Given the description of an element on the screen output the (x, y) to click on. 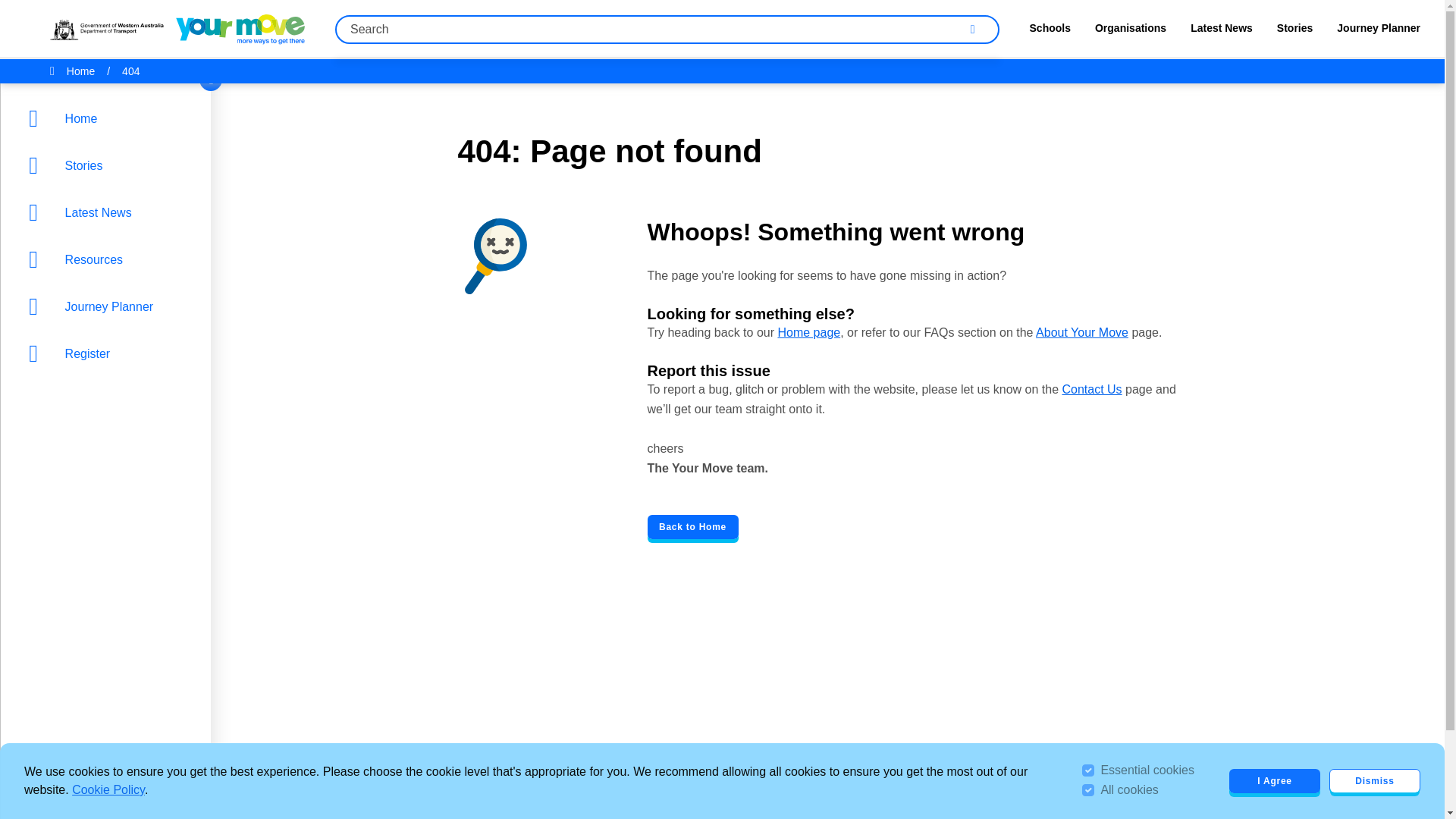
Register (109, 353)
Resources (109, 259)
Home (80, 70)
Home page (808, 332)
Search (972, 29)
toggle side navigation (210, 78)
Journey Planner (109, 305)
Home (109, 118)
Stories (109, 165)
Home (109, 118)
Cookie Policy (107, 789)
Organisations (1130, 31)
Contact Us (1091, 389)
Register (109, 353)
